Given the description of an element on the screen output the (x, y) to click on. 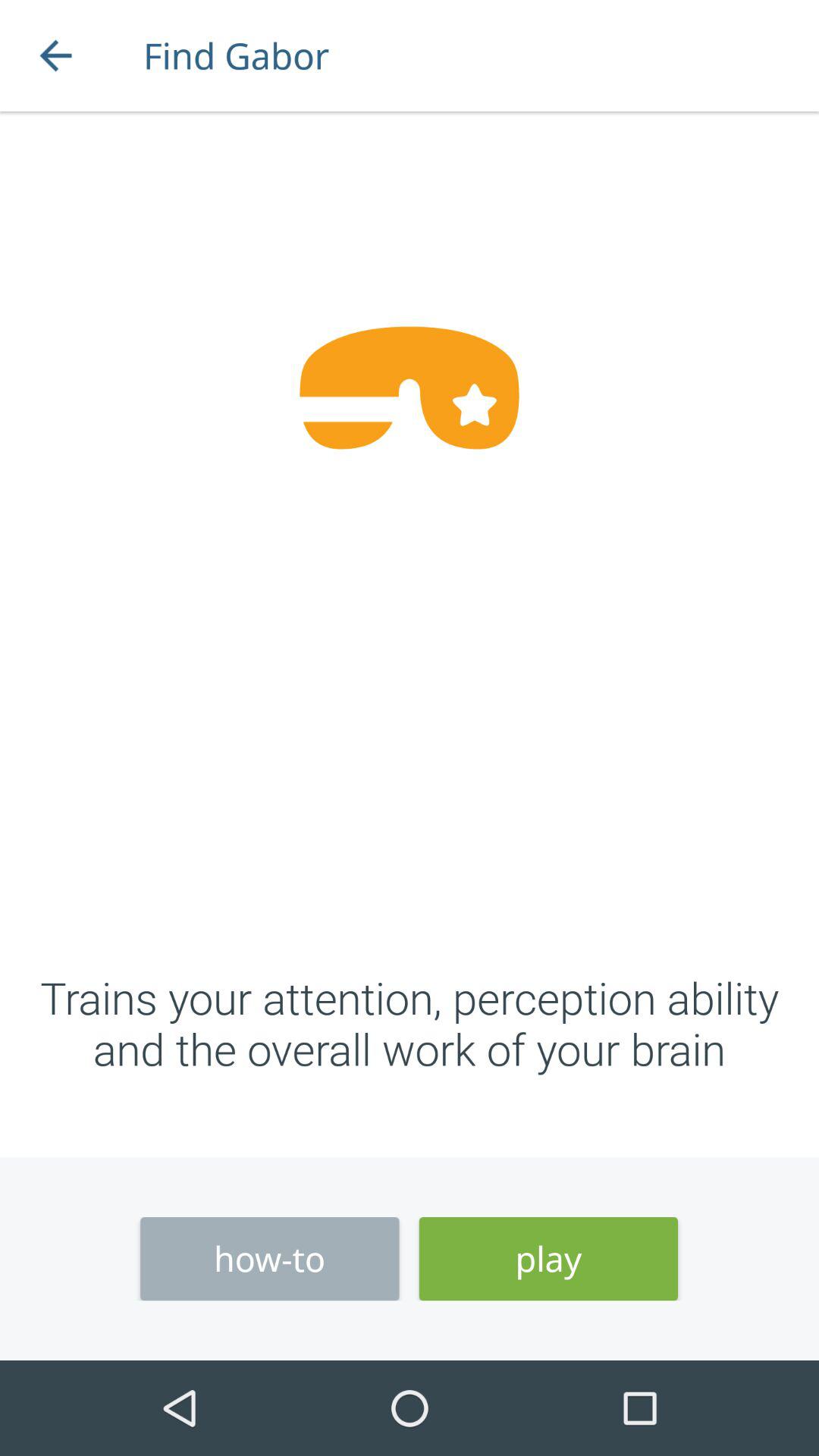
choose how-to icon (269, 1258)
